Given the description of an element on the screen output the (x, y) to click on. 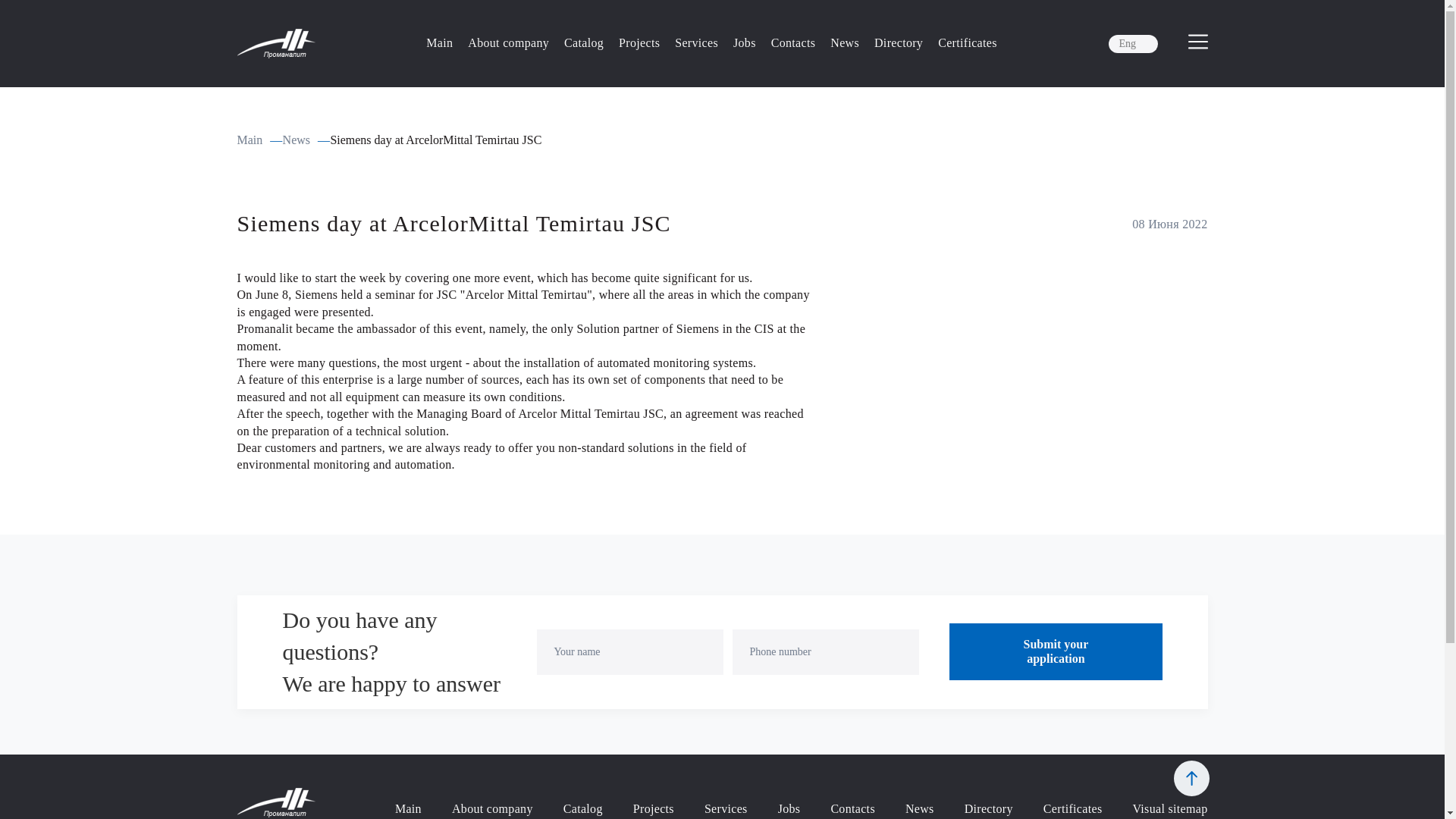
Jobs (744, 42)
About company (507, 42)
Contacts (793, 42)
Certificates (967, 42)
News (844, 42)
Catalog (584, 42)
Directory (899, 42)
Projects (638, 42)
News (296, 139)
Main (439, 42)
